Given the description of an element on the screen output the (x, y) to click on. 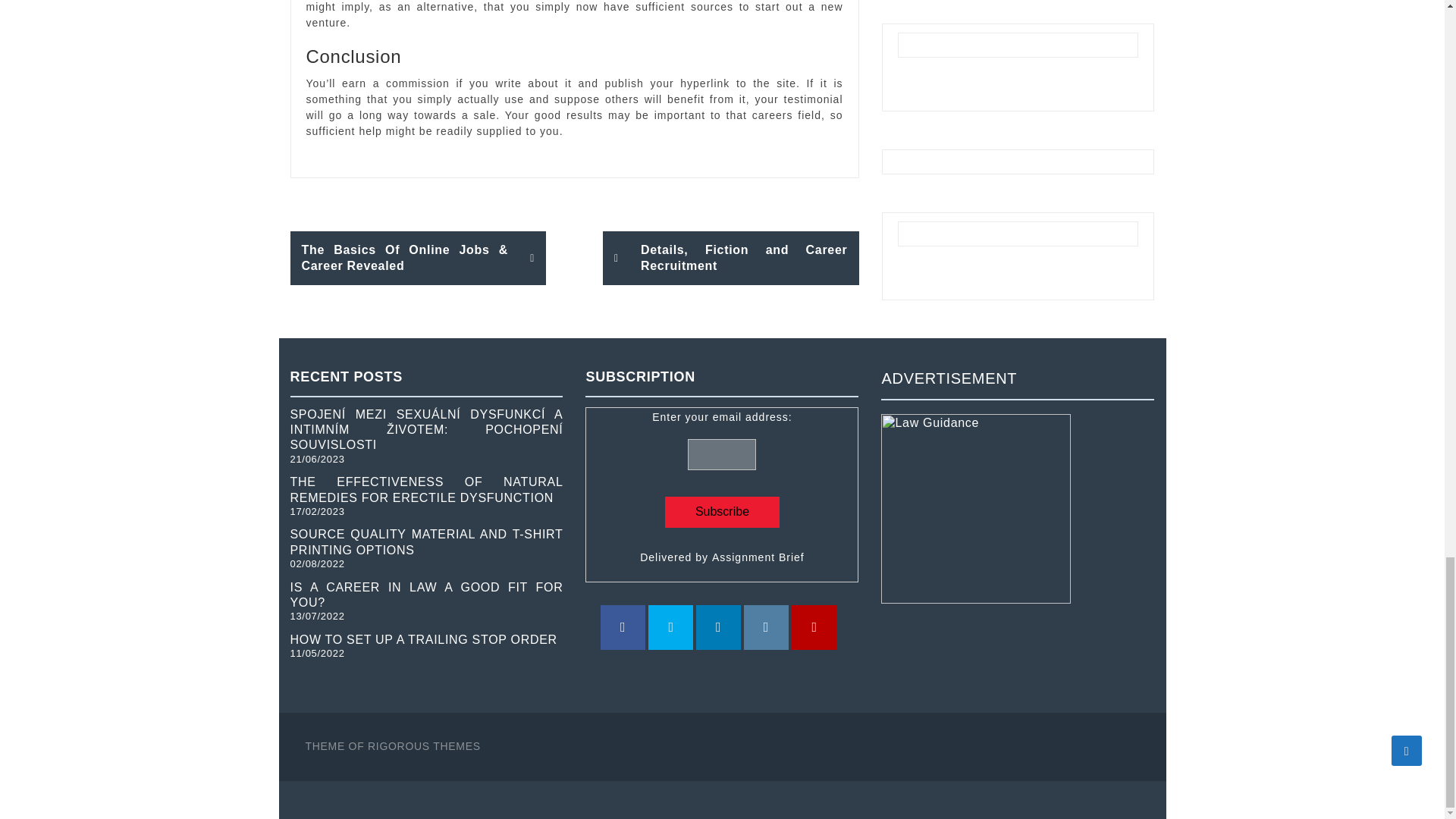
Subscribe (721, 511)
Law Guidance (975, 508)
Details, Fiction and Career Recruitment (730, 257)
